Given the description of an element on the screen output the (x, y) to click on. 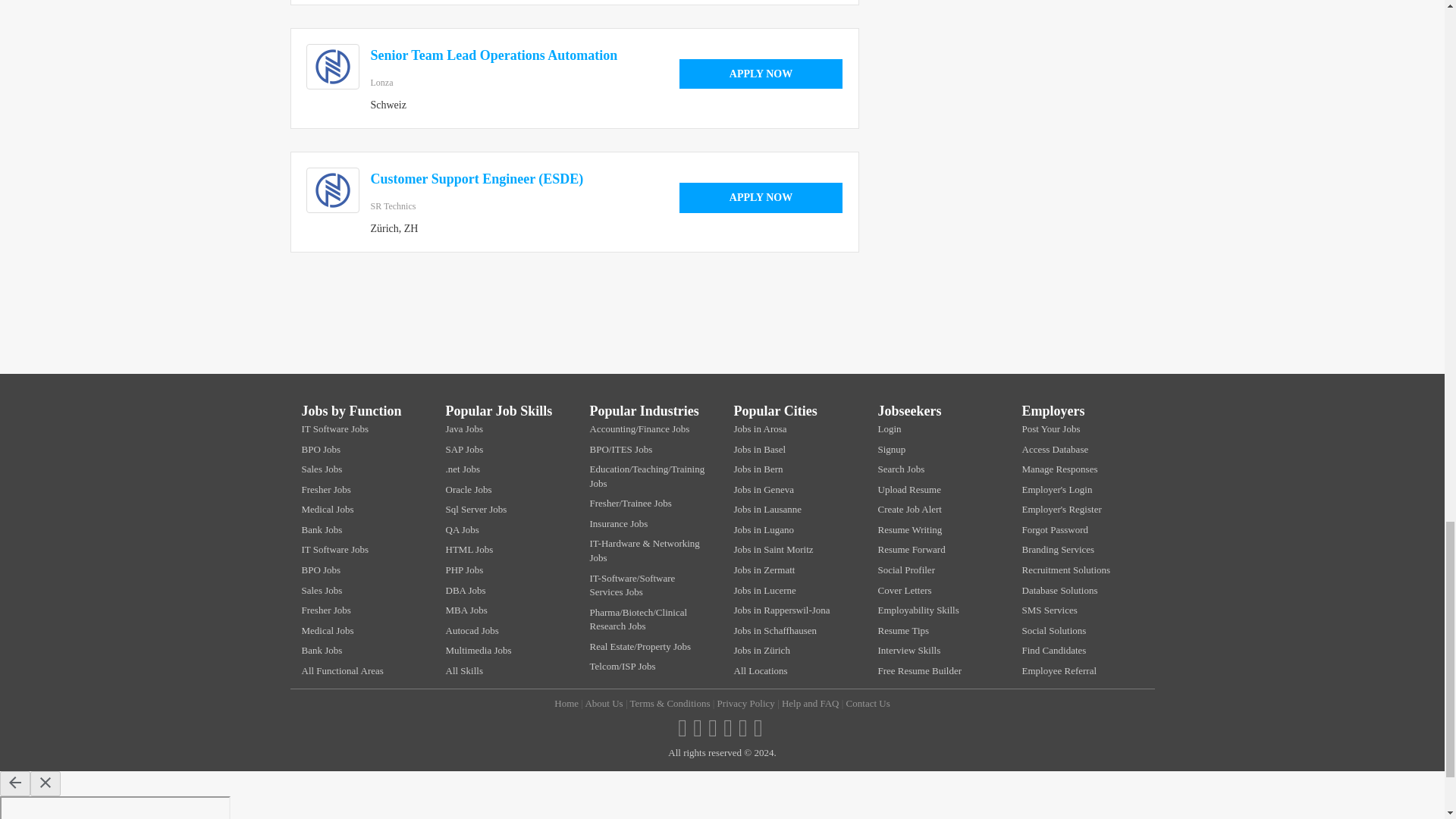
Lonza (381, 81)
Senior Team Lead Operations Automation (493, 54)
APPLY NOW (761, 73)
